Given the description of an element on the screen output the (x, y) to click on. 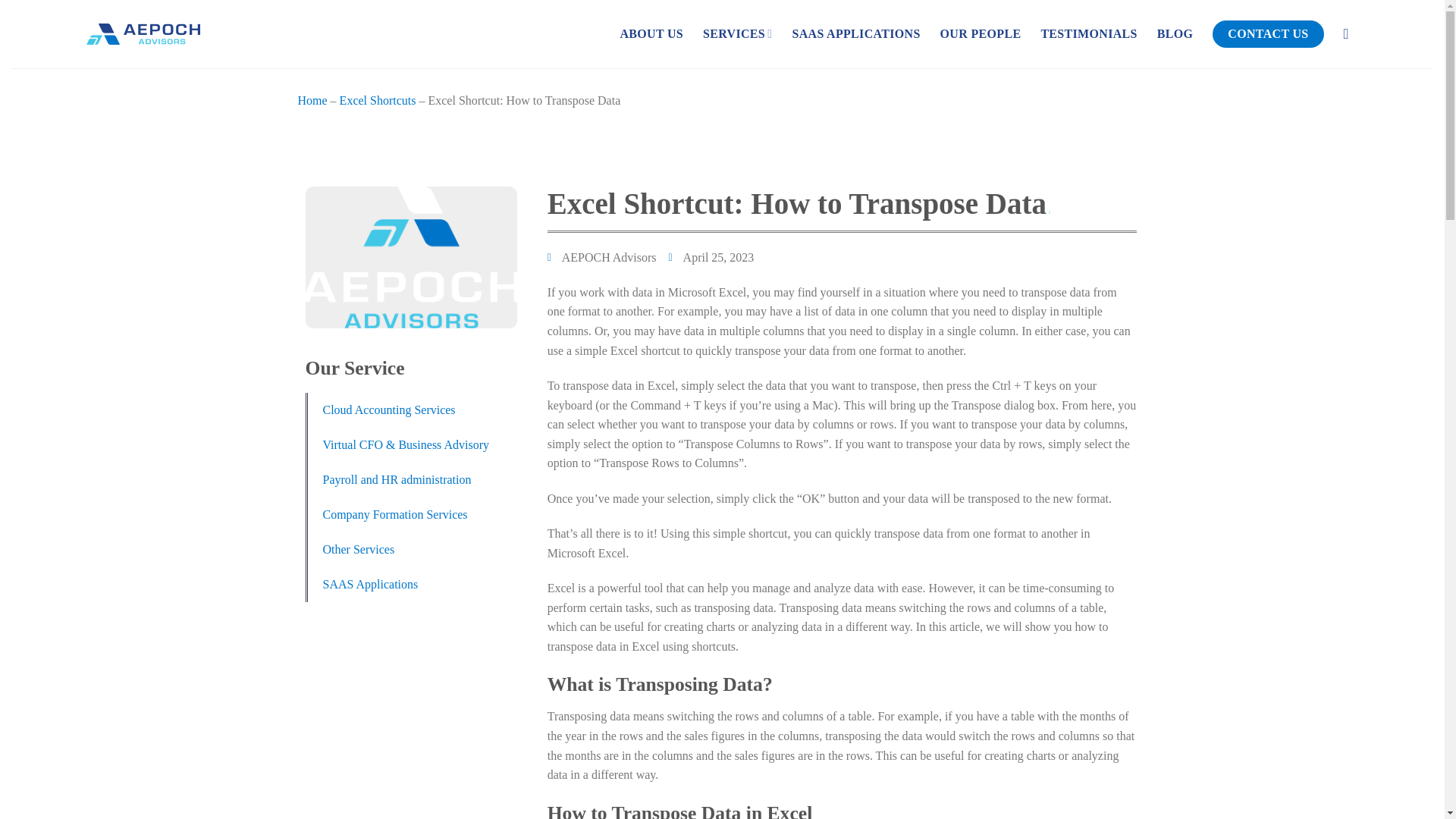
SERVICES (737, 33)
TESTIMONIALS (1089, 33)
AEPOCH - Cloud Accounting Service (142, 33)
Payroll and HR administration (396, 479)
SAAS APPLICATIONS (856, 33)
CONTACT US (1267, 33)
logo-v-light (410, 256)
Excel Shortcuts (377, 100)
BLOG (1175, 33)
Other Services (358, 549)
